Given the description of an element on the screen output the (x, y) to click on. 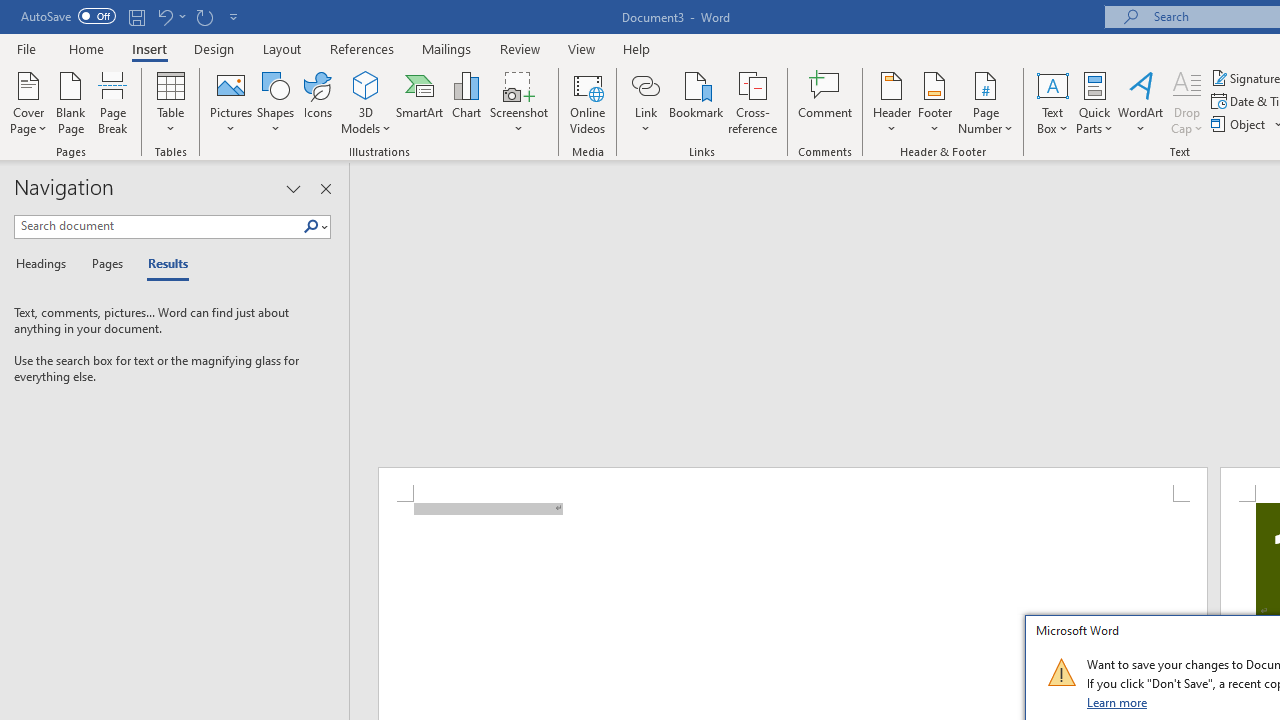
Help (637, 48)
Task Pane Options (293, 188)
Page Break (113, 102)
Close pane (325, 188)
Mailings (447, 48)
SmartArt... (419, 102)
Layout (282, 48)
Repeat Doc Close (204, 15)
Link (645, 102)
Shapes (275, 102)
Quick Parts (1094, 102)
Link (645, 84)
References (362, 48)
WordArt (1141, 102)
